Given the description of an element on the screen output the (x, y) to click on. 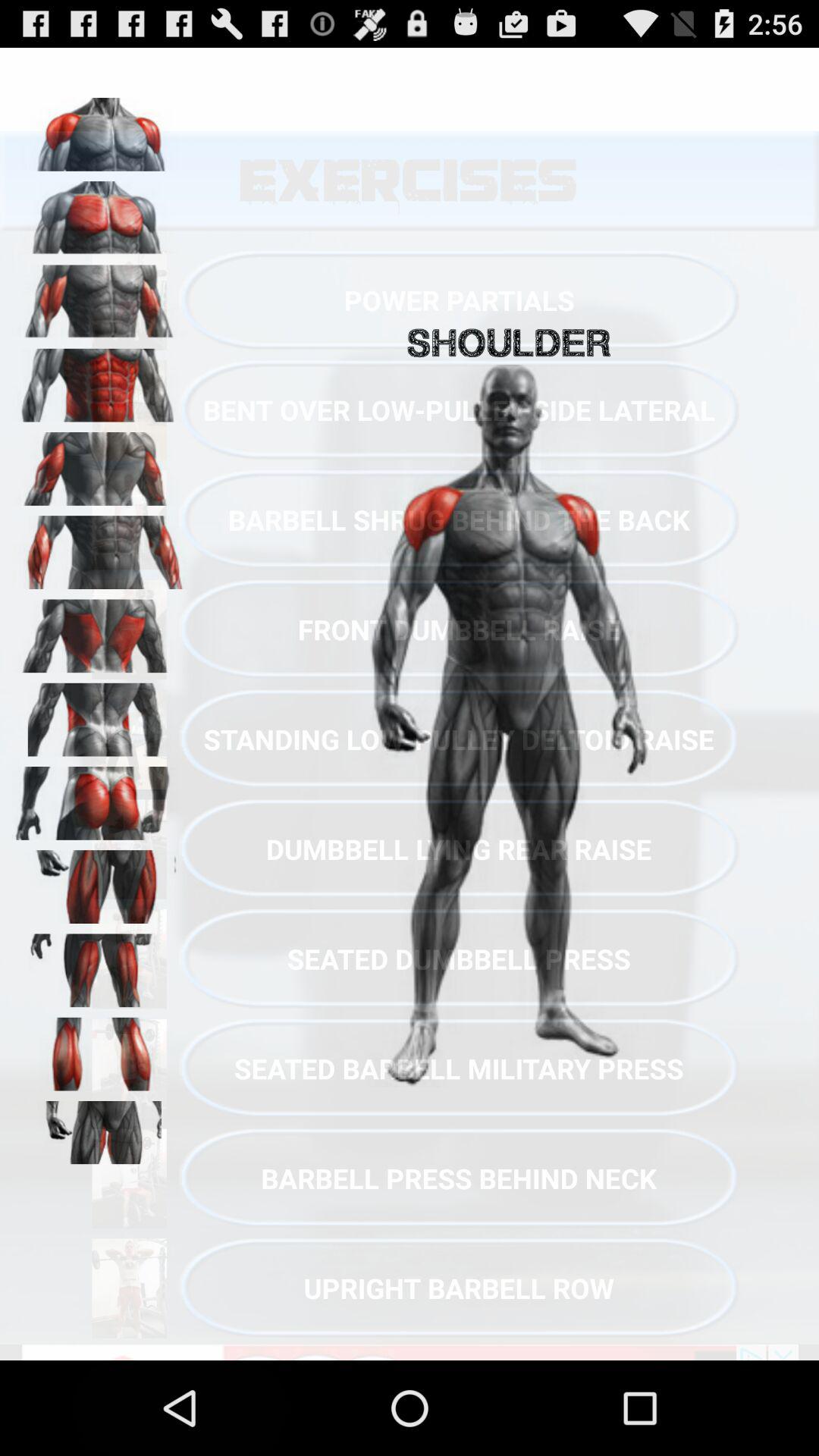
show shoulder muscles (99, 296)
